Given the description of an element on the screen output the (x, y) to click on. 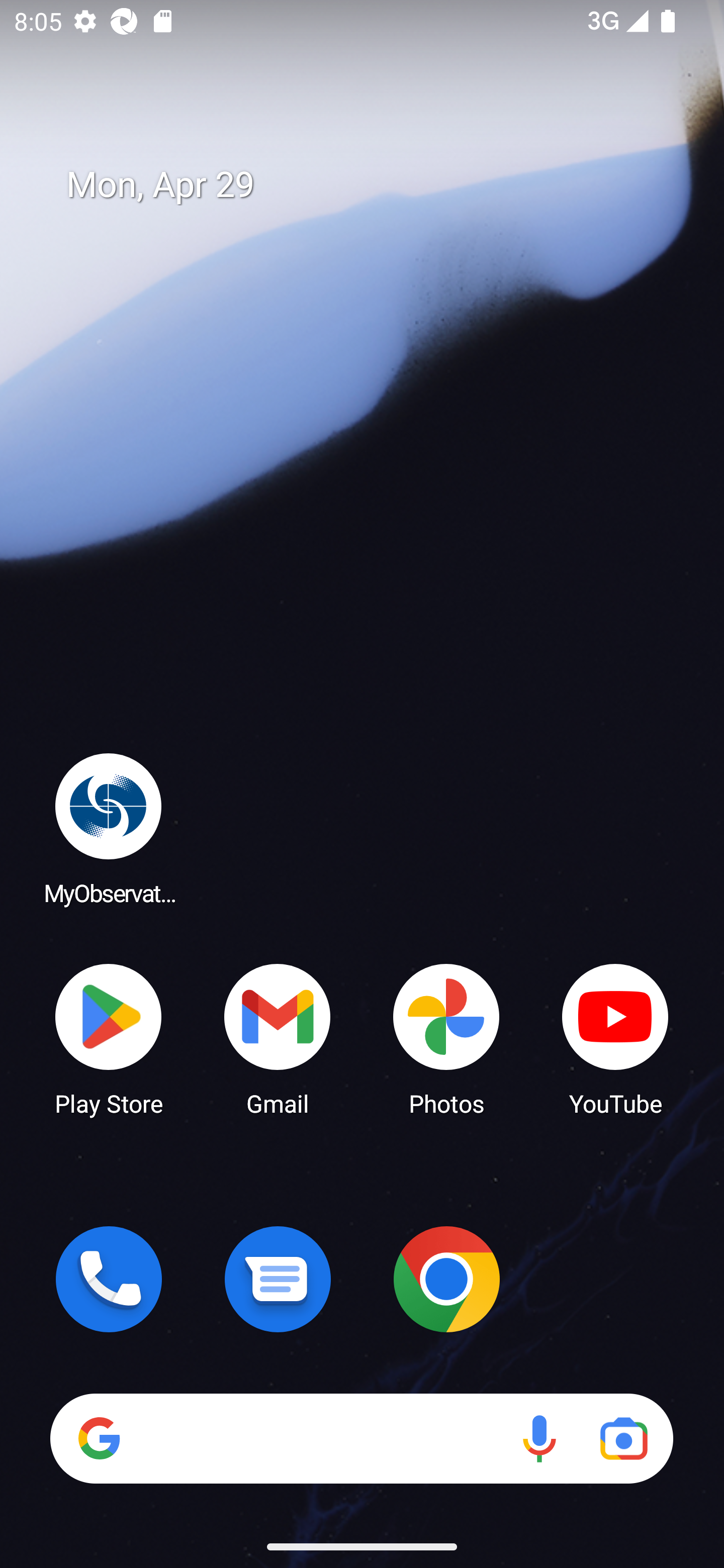
Mon, Apr 29 (375, 184)
MyObservatory (108, 828)
Play Store (108, 1038)
Gmail (277, 1038)
Photos (445, 1038)
YouTube (615, 1038)
Phone (108, 1279)
Messages (277, 1279)
Chrome (446, 1279)
Voice search (539, 1438)
Google Lens (623, 1438)
